Given the description of an element on the screen output the (x, y) to click on. 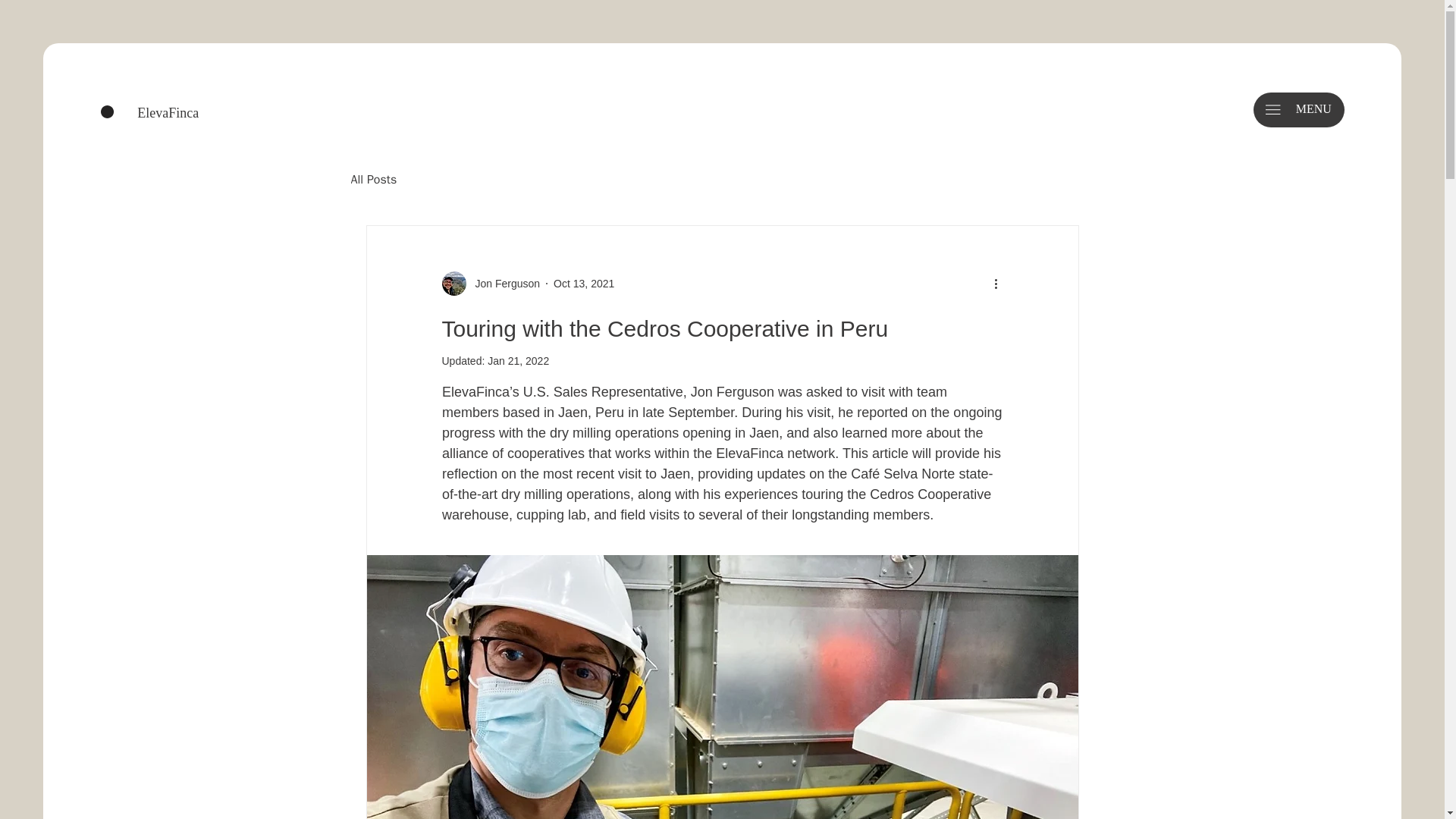
All Posts (373, 179)
Oct 13, 2021 (583, 283)
ElevaFinca (167, 112)
Jon Ferguson (502, 283)
Jan 21, 2022 (517, 360)
